Given the description of an element on the screen output the (x, y) to click on. 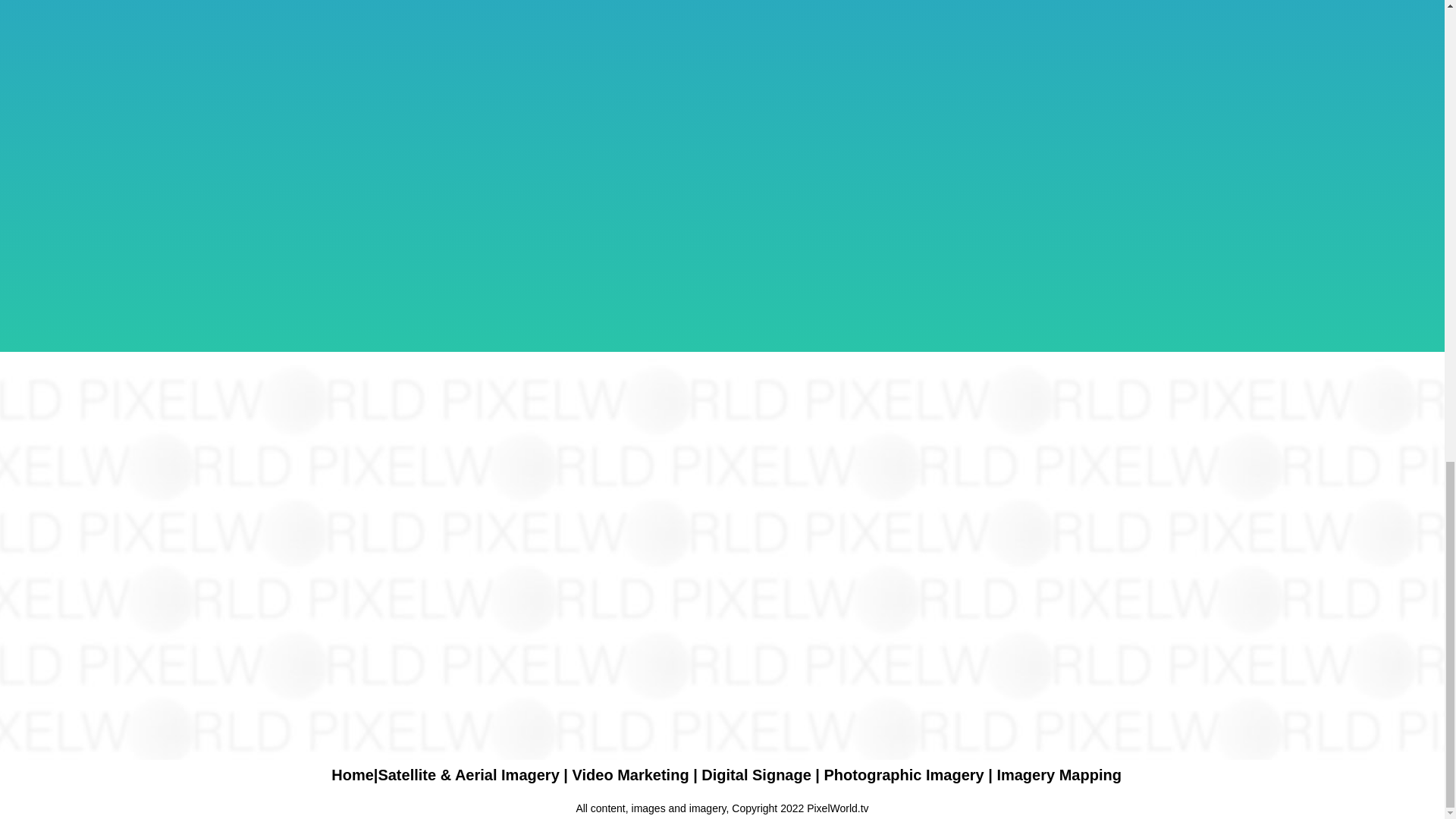
Photographic Imagery (904, 774)
Digital Signage (755, 774)
Home (352, 774)
Video Marketing (630, 774)
Imagery Mapping (1058, 774)
